Given the description of an element on the screen output the (x, y) to click on. 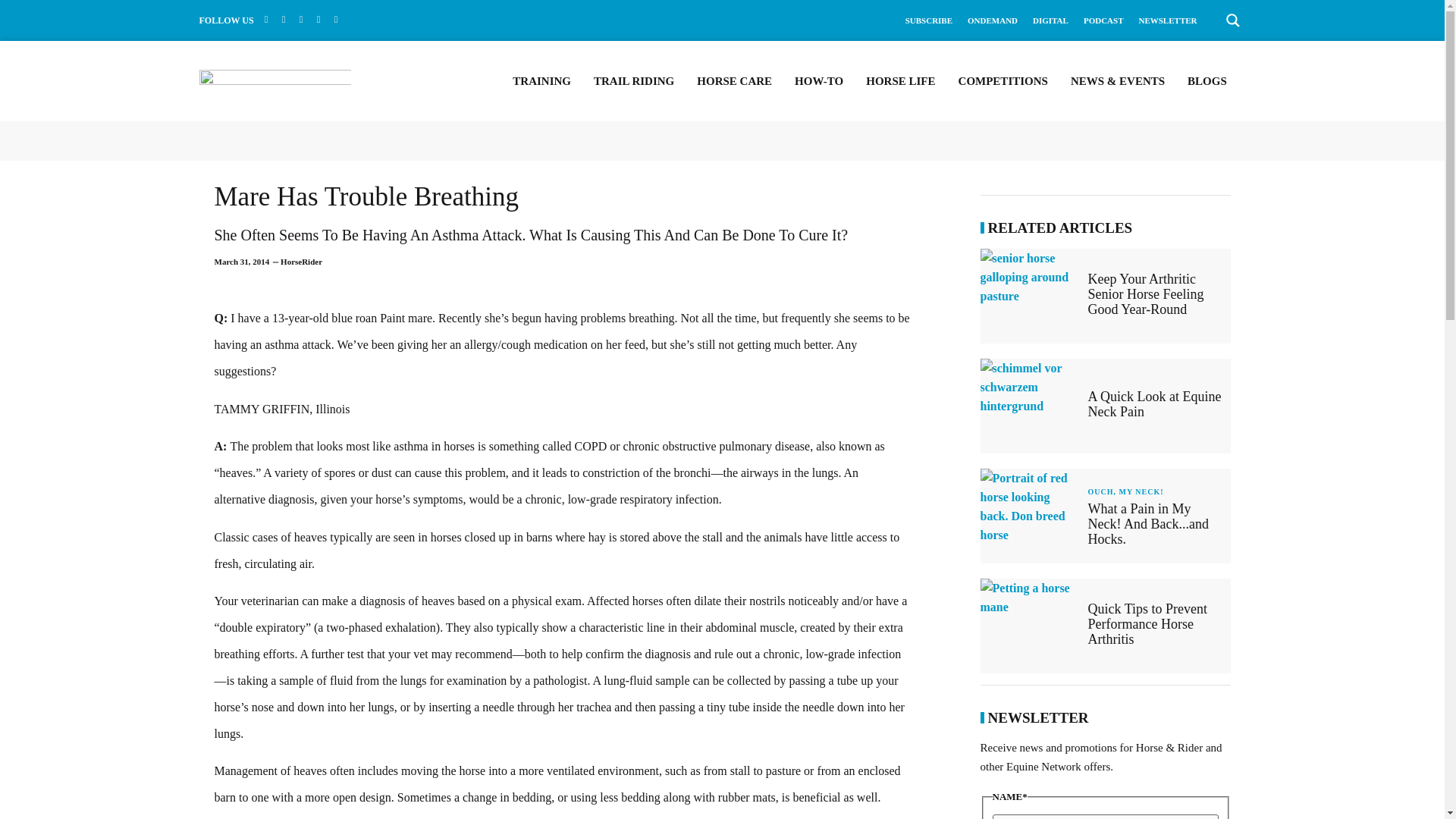
SUBSCRIBE (928, 20)
Keep Your Arthritic Senior Horse Feeling Good Year-Round (1145, 293)
What a Pain in My Neck! And Back...and Hocks. (1029, 515)
A Quick Look at Equine Neck Pain (1029, 405)
PODCAST (1103, 20)
Quick Tips to Prevent Performance Horse Arthritis (1147, 624)
DIGITAL (1050, 20)
ONDEMAND (992, 20)
A Quick Look at Equine Neck Pain (1154, 404)
NEWSLETTER (1167, 20)
Quick Tips to Prevent Performance Horse Arthritis (1029, 625)
TRAINING (541, 80)
What a Pain in My Neck! And Back...and Hocks. (1147, 523)
Keep Your Arthritic Senior Horse Feeling Good Year-Round (1029, 295)
TRAIL RIDING (634, 80)
